Given the description of an element on the screen output the (x, y) to click on. 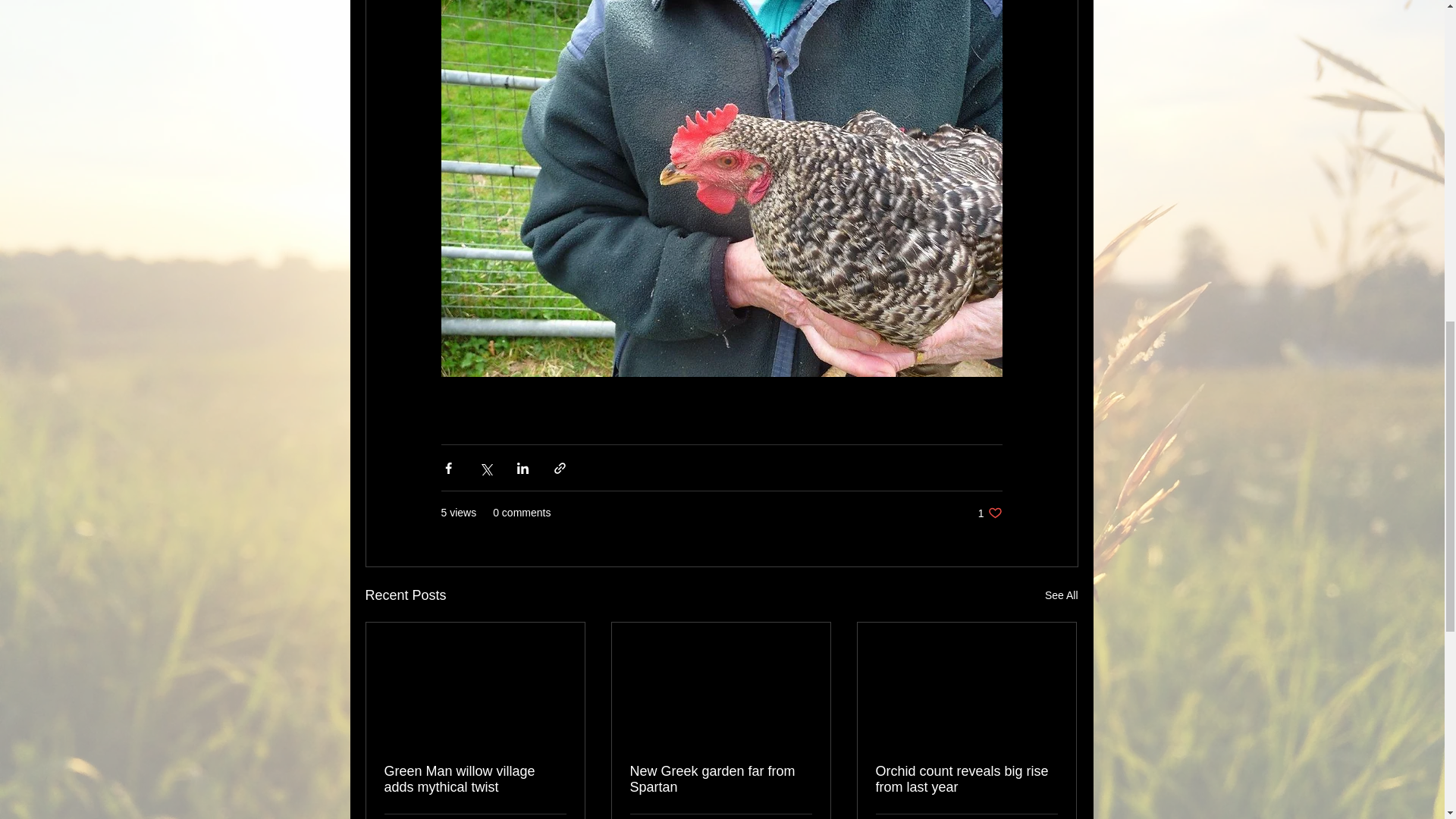
See All (1061, 595)
Green Man willow village adds mythical twist (475, 779)
